Given the description of an element on the screen output the (x, y) to click on. 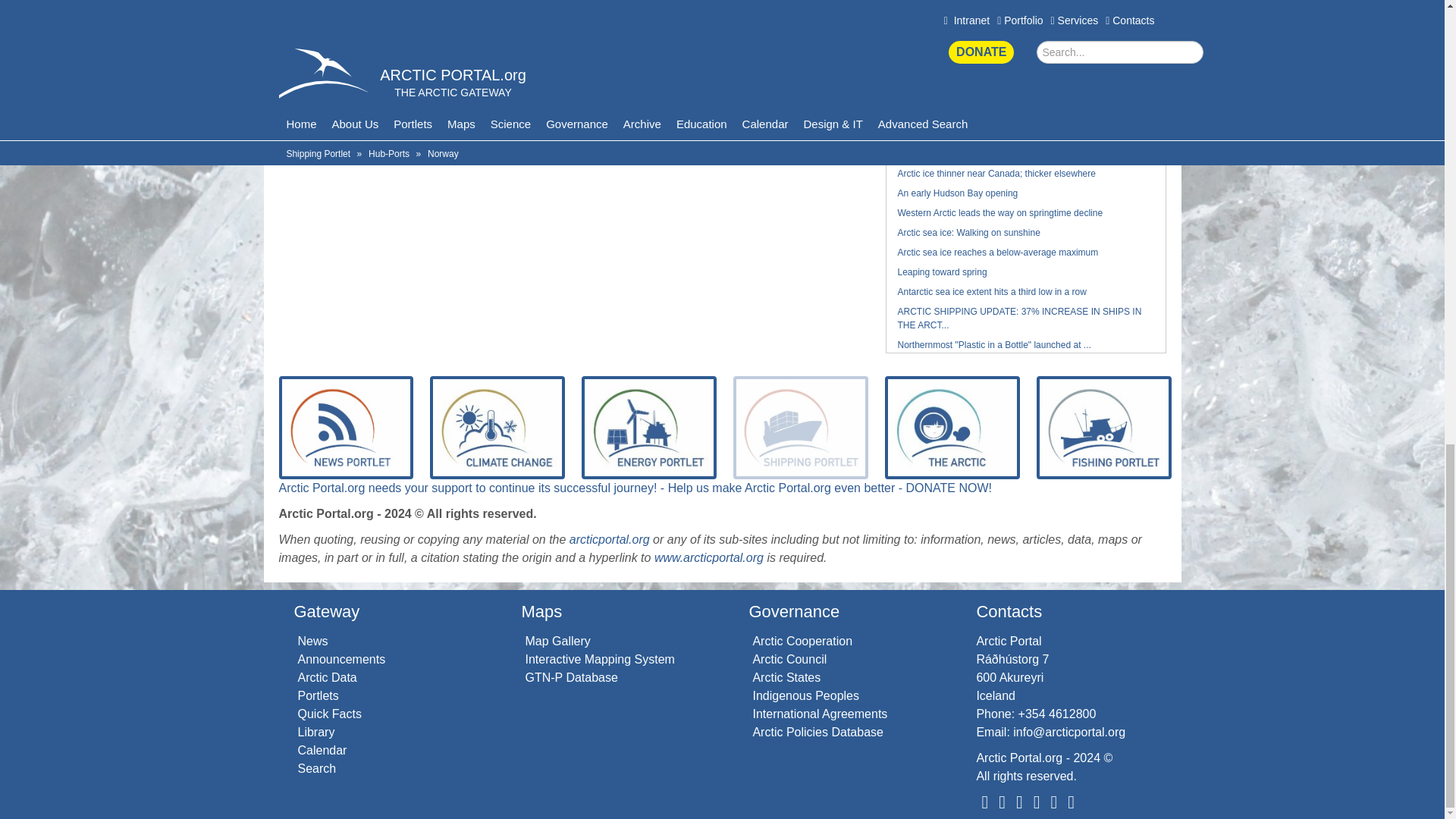
Fishing Portlet (1104, 427)
Quick Facts (329, 713)
Announcements (341, 658)
Gateway (326, 610)
Energy Portlet (648, 427)
Shipping Portlet (800, 427)
News (312, 640)
Portlets (317, 695)
News Portlet (346, 427)
The Arctic Portlet (952, 427)
